Given the description of an element on the screen output the (x, y) to click on. 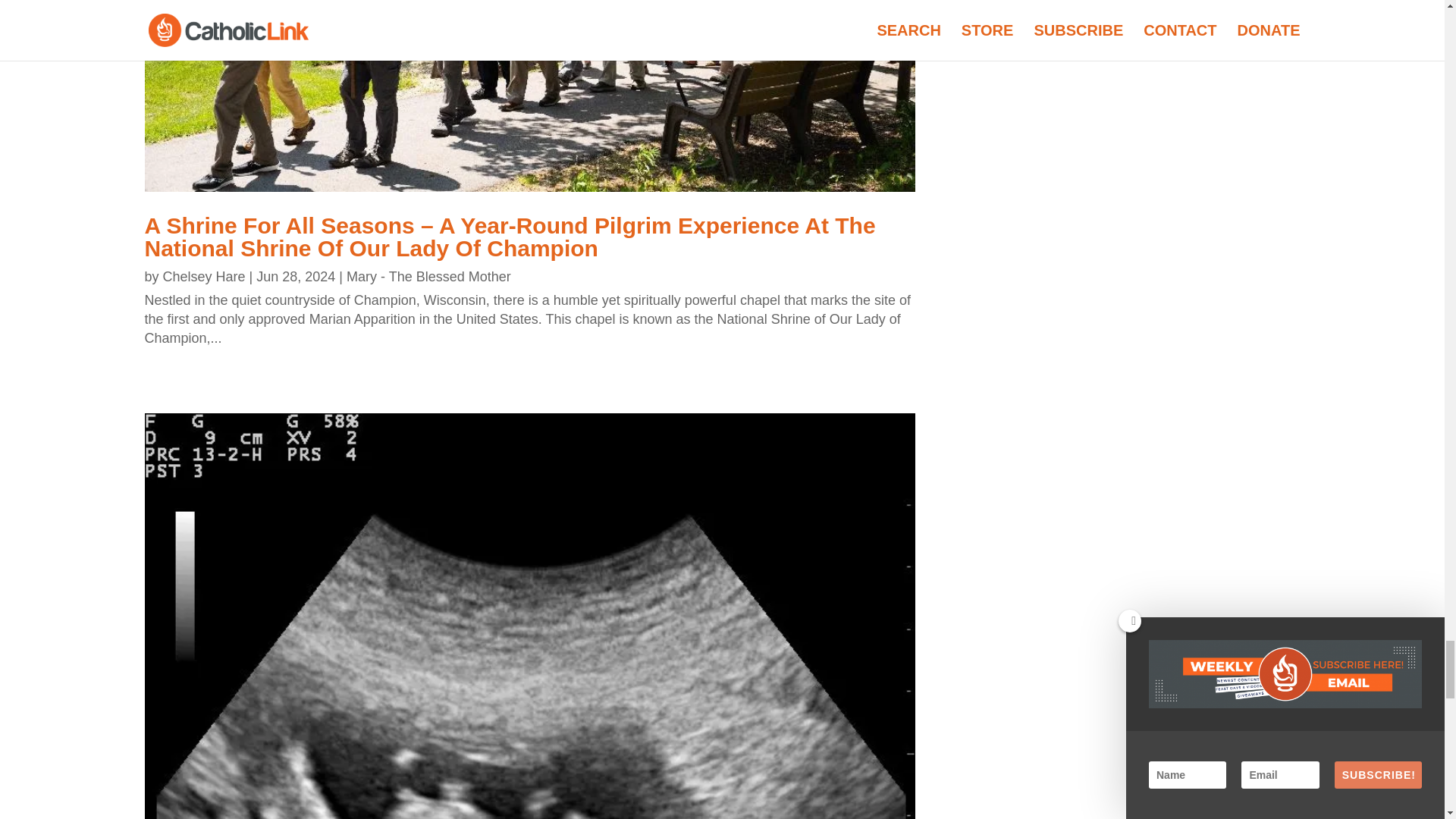
Posts by Chelsey Hare (204, 276)
